Given the description of an element on the screen output the (x, y) to click on. 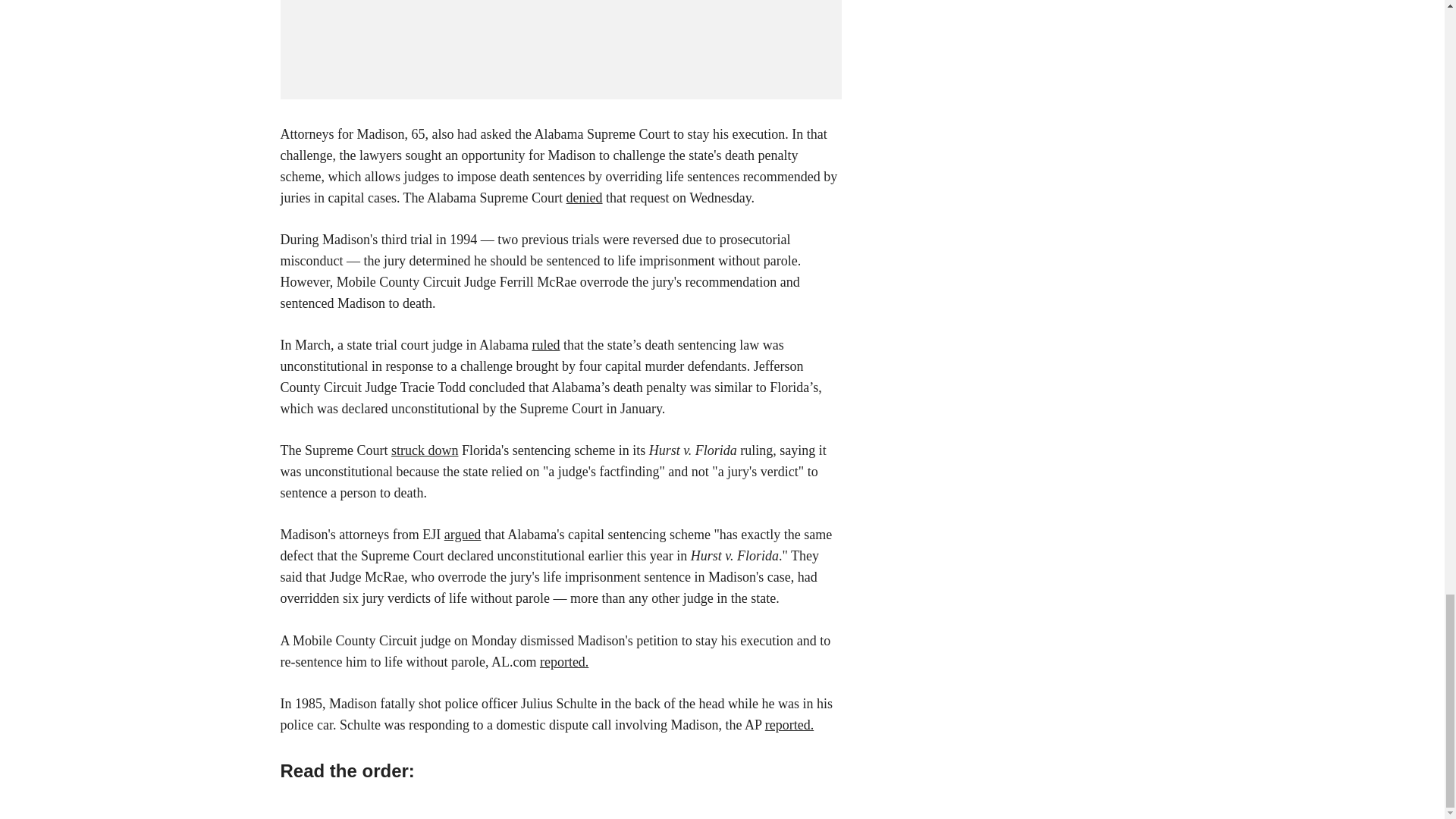
ruled (545, 344)
reported. (564, 661)
denied (584, 197)
reported. (789, 724)
argued (462, 534)
struck down (424, 450)
